Given the description of an element on the screen output the (x, y) to click on. 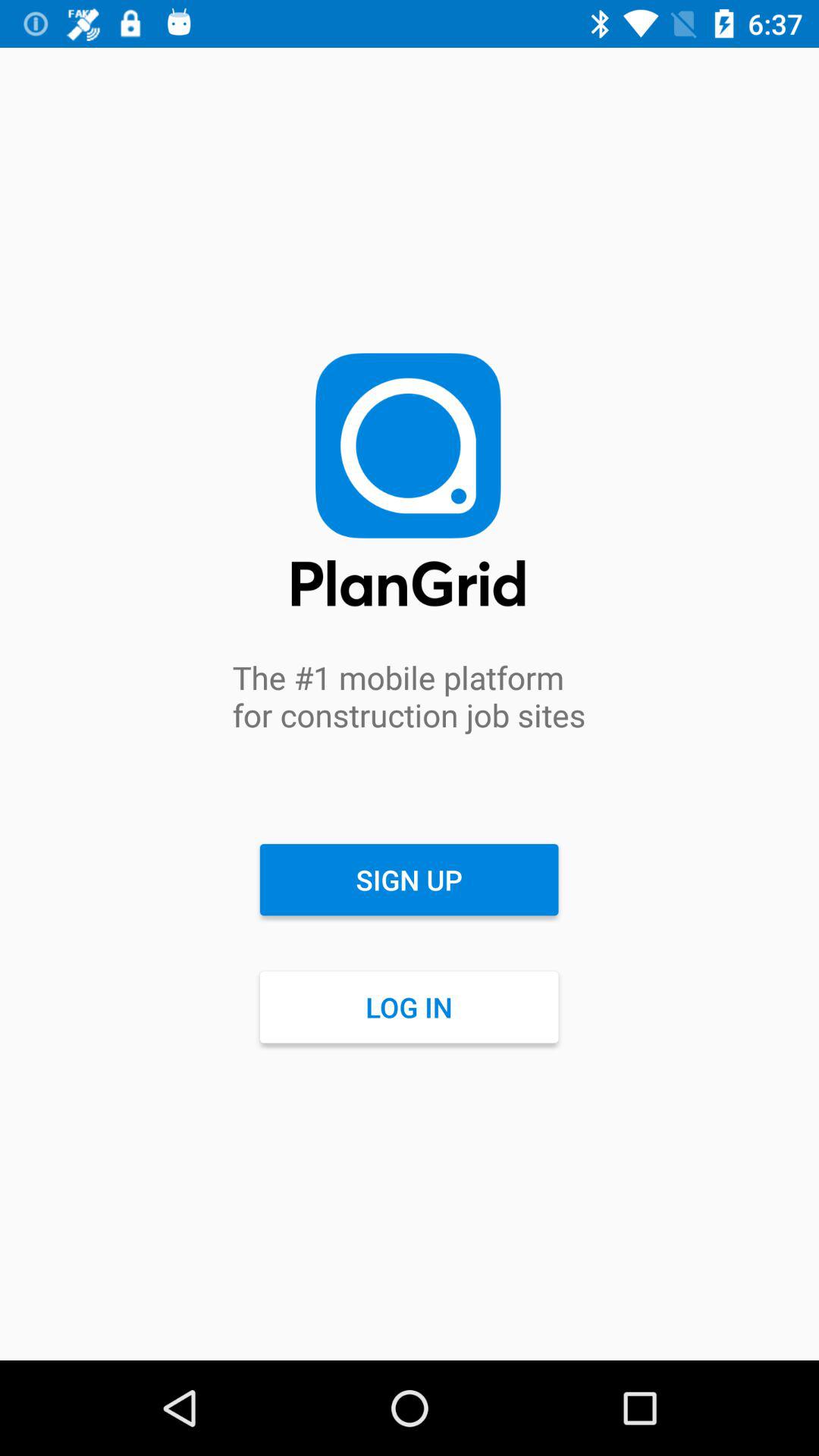
launch item below the the 1 mobile (408, 879)
